Given the description of an element on the screen output the (x, y) to click on. 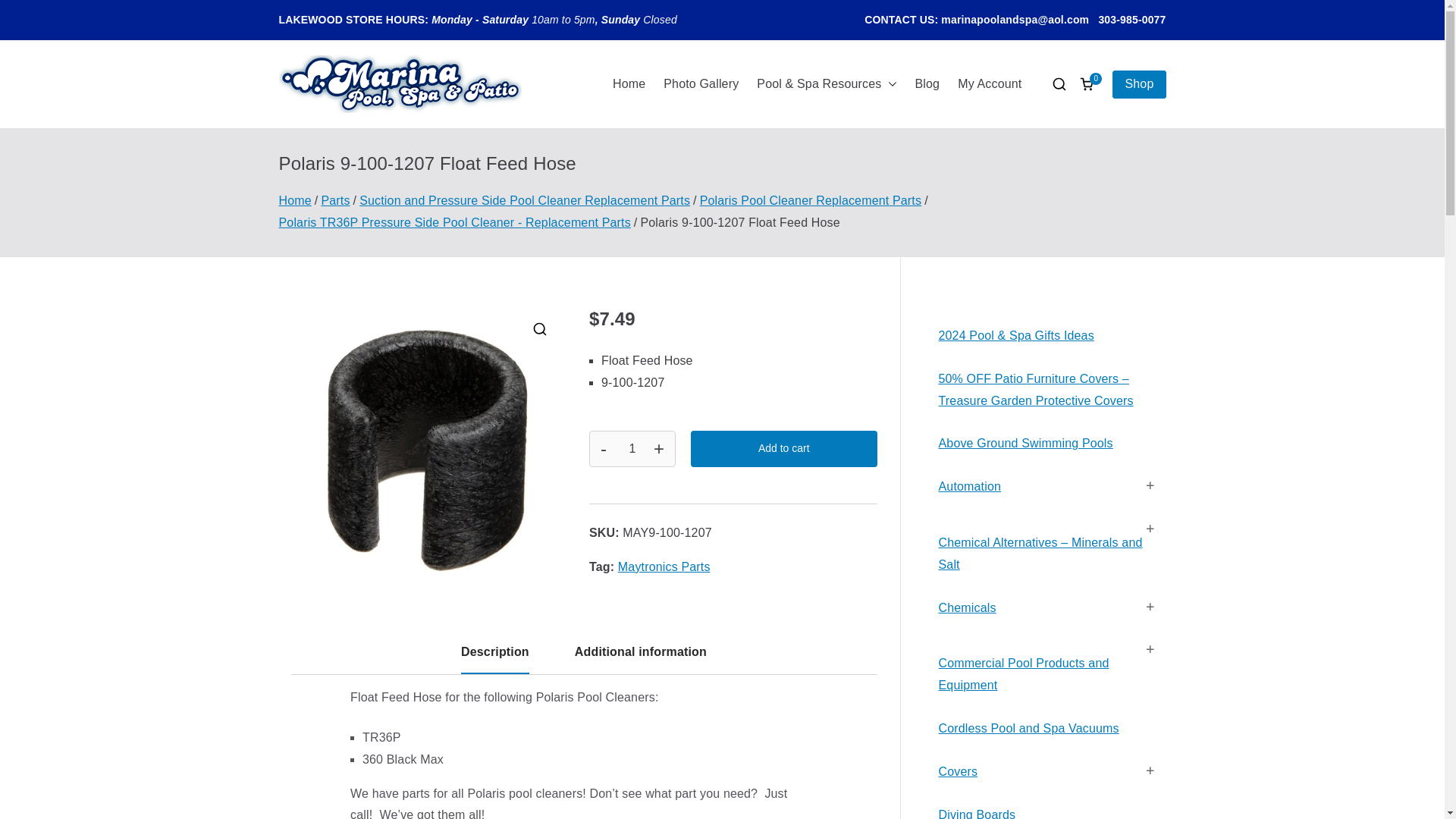
Home (628, 84)
Photo Gallery (700, 84)
Shop (1139, 84)
View your shopping cart (1086, 83)
My Account (990, 84)
9-100-1207 (423, 446)
1 (632, 448)
303-985-0077 (1131, 19)
Blog (926, 84)
Search (26, 12)
0 (1086, 83)
